Given the description of an element on the screen output the (x, y) to click on. 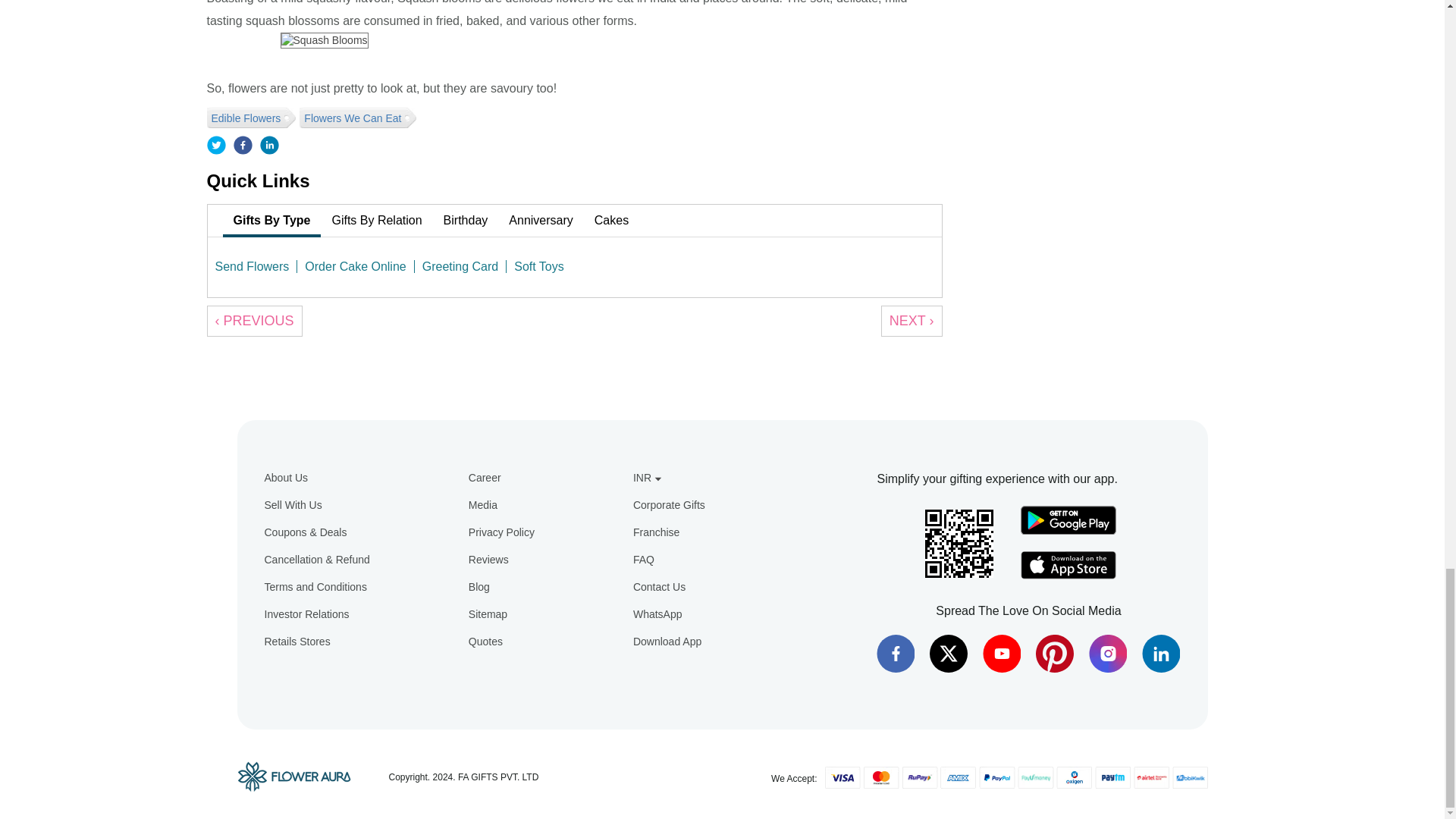
Birthday (465, 220)
Anniversary (540, 220)
Gifts By Type (271, 220)
Edible Flowers (247, 117)
Flowers We Can Eat (354, 117)
Gifts By Relation (376, 220)
Squash Blooms (324, 39)
